Given the description of an element on the screen output the (x, y) to click on. 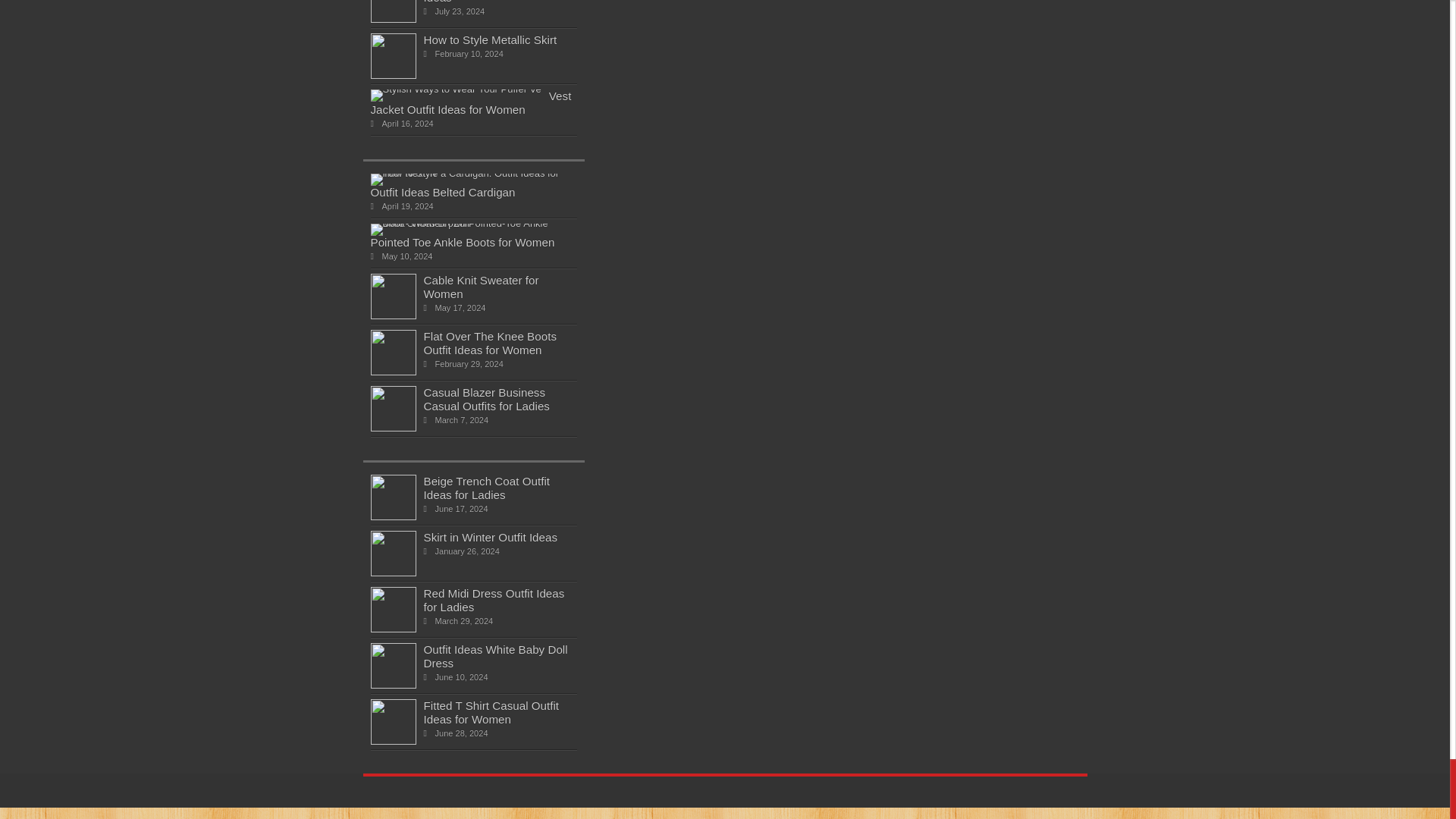
Pink Cowgirl Boots Outfit Ideas (391, 19)
